Given the description of an element on the screen output the (x, y) to click on. 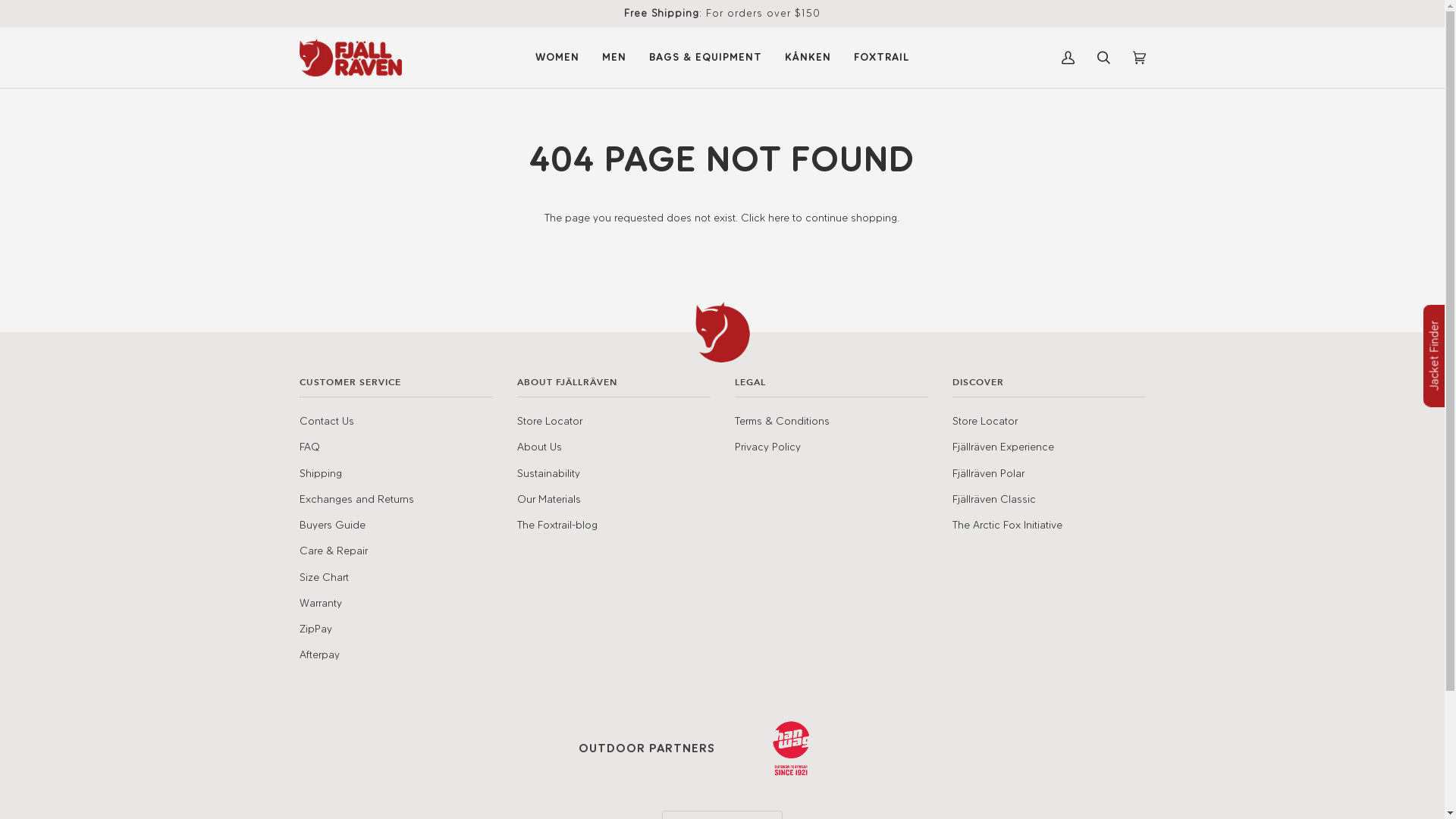
FOXTRAIL Element type: text (881, 57)
Search Element type: text (1103, 57)
BAGS & EQUIPMENT Element type: text (705, 57)
Size Chart Element type: text (323, 576)
FAQ Element type: text (308, 446)
Store Locator Element type: text (984, 420)
Sustainability Element type: text (548, 473)
Exchanges and Returns Element type: text (355, 498)
WOMEN Element type: text (557, 57)
About Us Element type: text (539, 446)
Contact Us Element type: text (325, 420)
MEN Element type: text (613, 57)
Care & Repair Element type: text (332, 550)
Store Locator Element type: text (549, 420)
Warranty Element type: text (319, 602)
Afterpay Element type: text (318, 654)
Cart
(0) Element type: text (1138, 57)
My Account Element type: text (1067, 57)
The Foxtrail-blog Element type: text (557, 524)
here Element type: text (778, 217)
Privacy Policy Element type: text (767, 446)
Buyers Guide Element type: text (331, 524)
Terms & Conditions Element type: text (781, 420)
ZipPay Element type: text (314, 628)
Our Materials Element type: text (548, 498)
The Arctic Fox Initiative Element type: text (1007, 524)
Shipping Element type: text (319, 473)
